Given the description of an element on the screen output the (x, y) to click on. 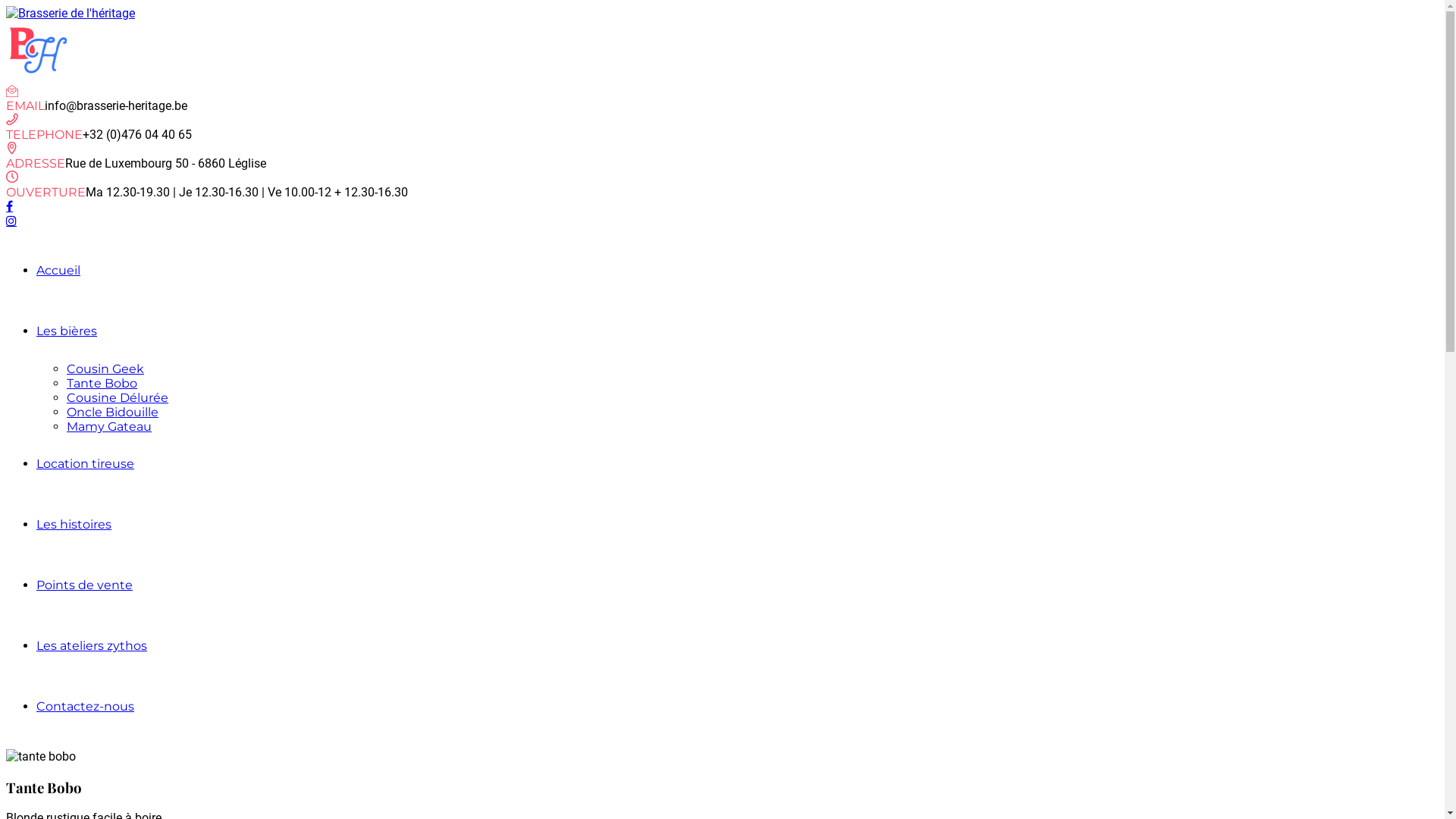
Cousin Geek Element type: text (105, 368)
Mamy Gateau Element type: text (108, 426)
Les histoires Element type: text (73, 524)
Accueil Element type: text (58, 270)
Tante Bobo Element type: text (101, 383)
Oncle Bidouille Element type: text (112, 411)
Brasserie Heritage - Tante Bobo 75 Element type: hover (40, 756)
Les ateliers zythos Element type: text (91, 645)
Points de vente Element type: text (84, 584)
Contactez-nous Element type: text (85, 706)
Location tireuse Element type: text (85, 463)
